Given the description of an element on the screen output the (x, y) to click on. 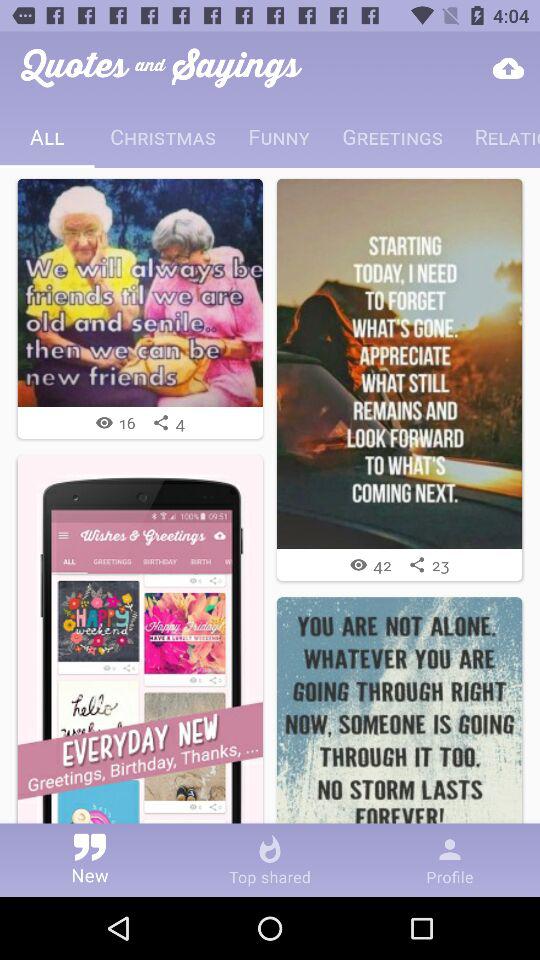
enlarge the photo in question (139, 292)
